Given the description of an element on the screen output the (x, y) to click on. 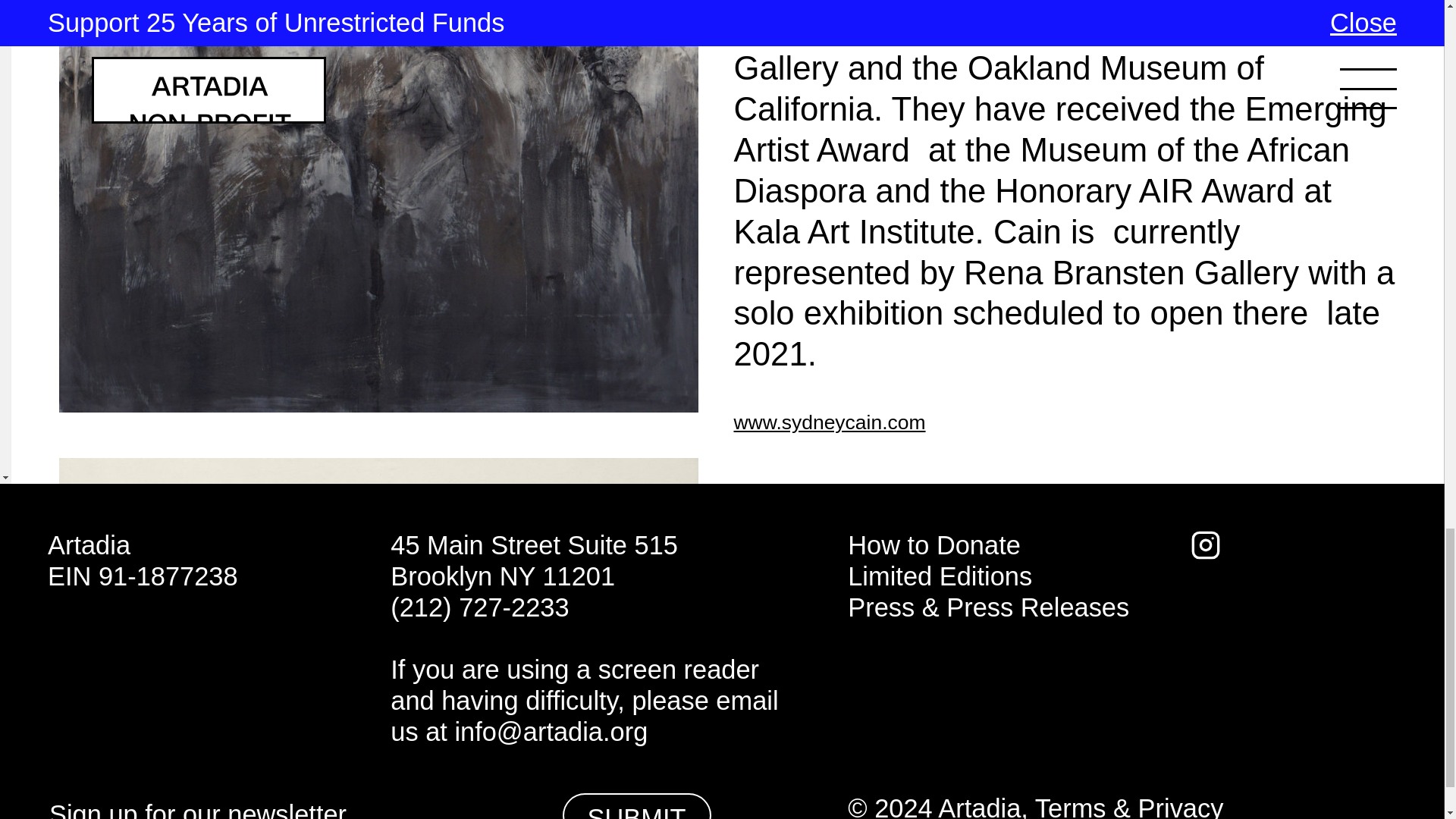
Limited Editions (939, 575)
Submit (636, 806)
Submit (636, 806)
www.sydneycain.com (829, 422)
How to Donate (933, 544)
